Given the description of an element on the screen output the (x, y) to click on. 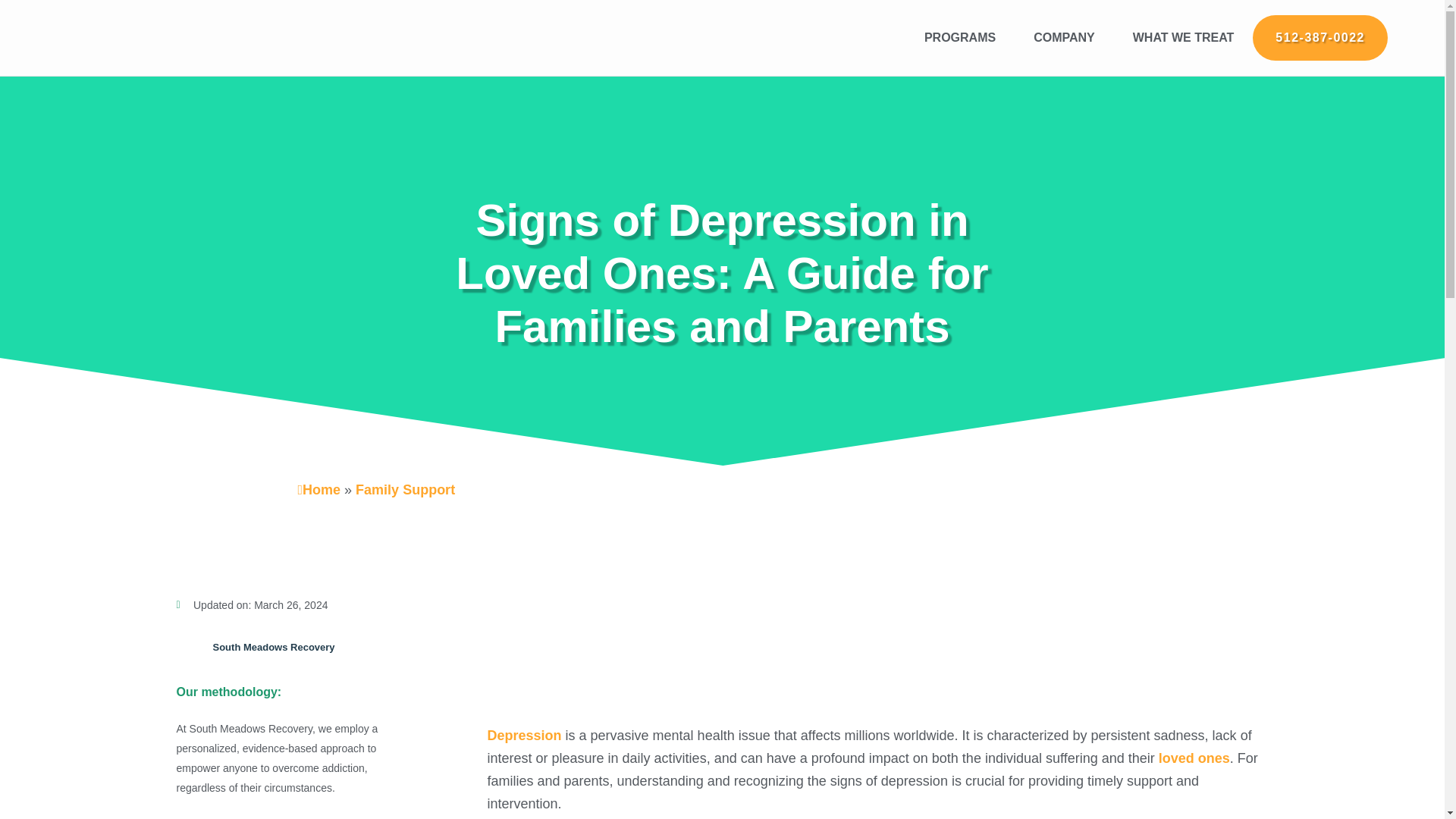
Signs of Depression (875, 652)
WHAT WE TREAT (1183, 38)
COMPANY (1063, 38)
PROGRAMS (959, 38)
